Given the description of an element on the screen output the (x, y) to click on. 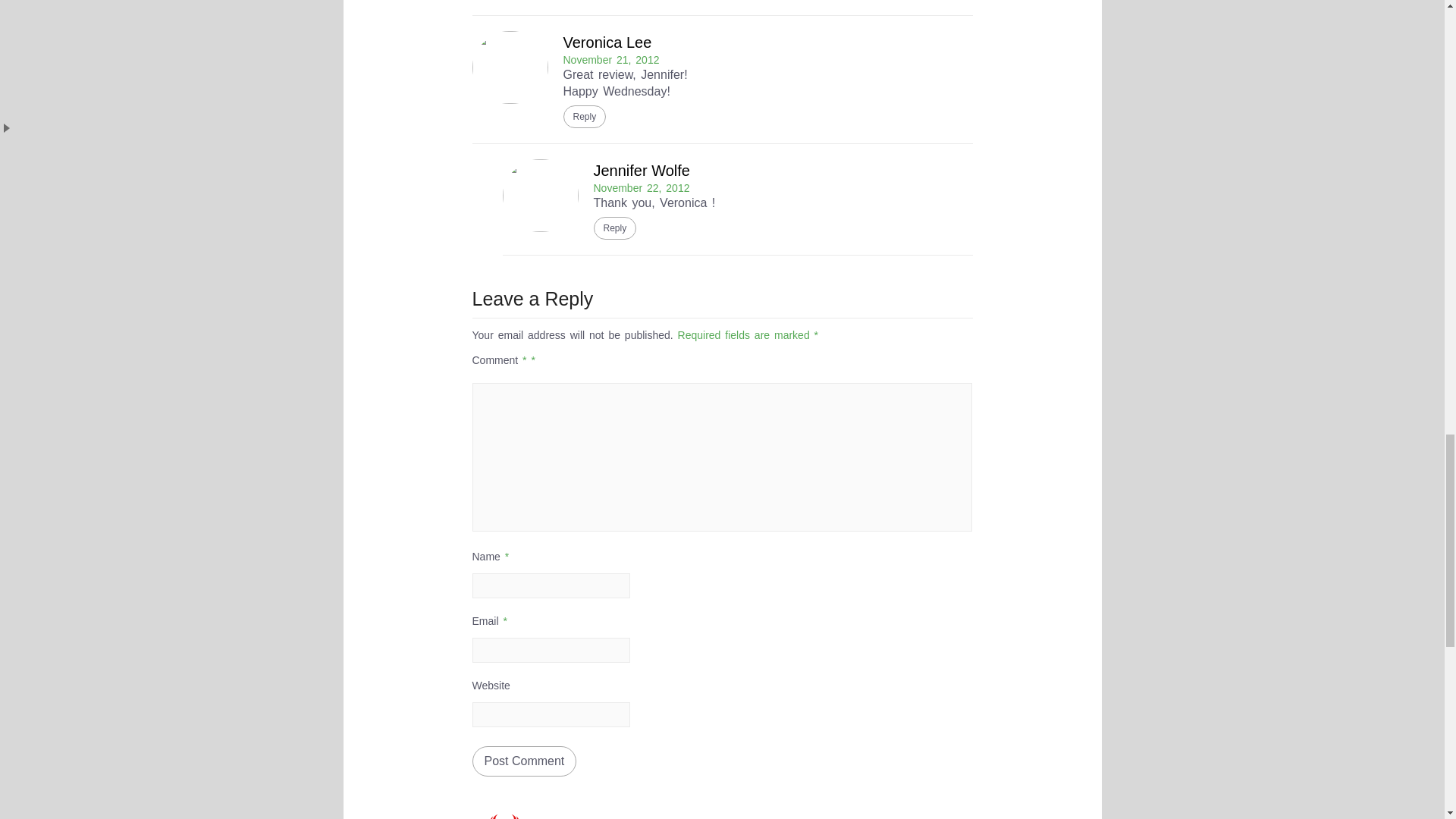
Reply (614, 228)
Jennifer Wolfe (640, 170)
Veronica Lee (606, 42)
Post Comment (523, 761)
Post Comment (523, 761)
Reply (583, 116)
